Given the description of an element on the screen output the (x, y) to click on. 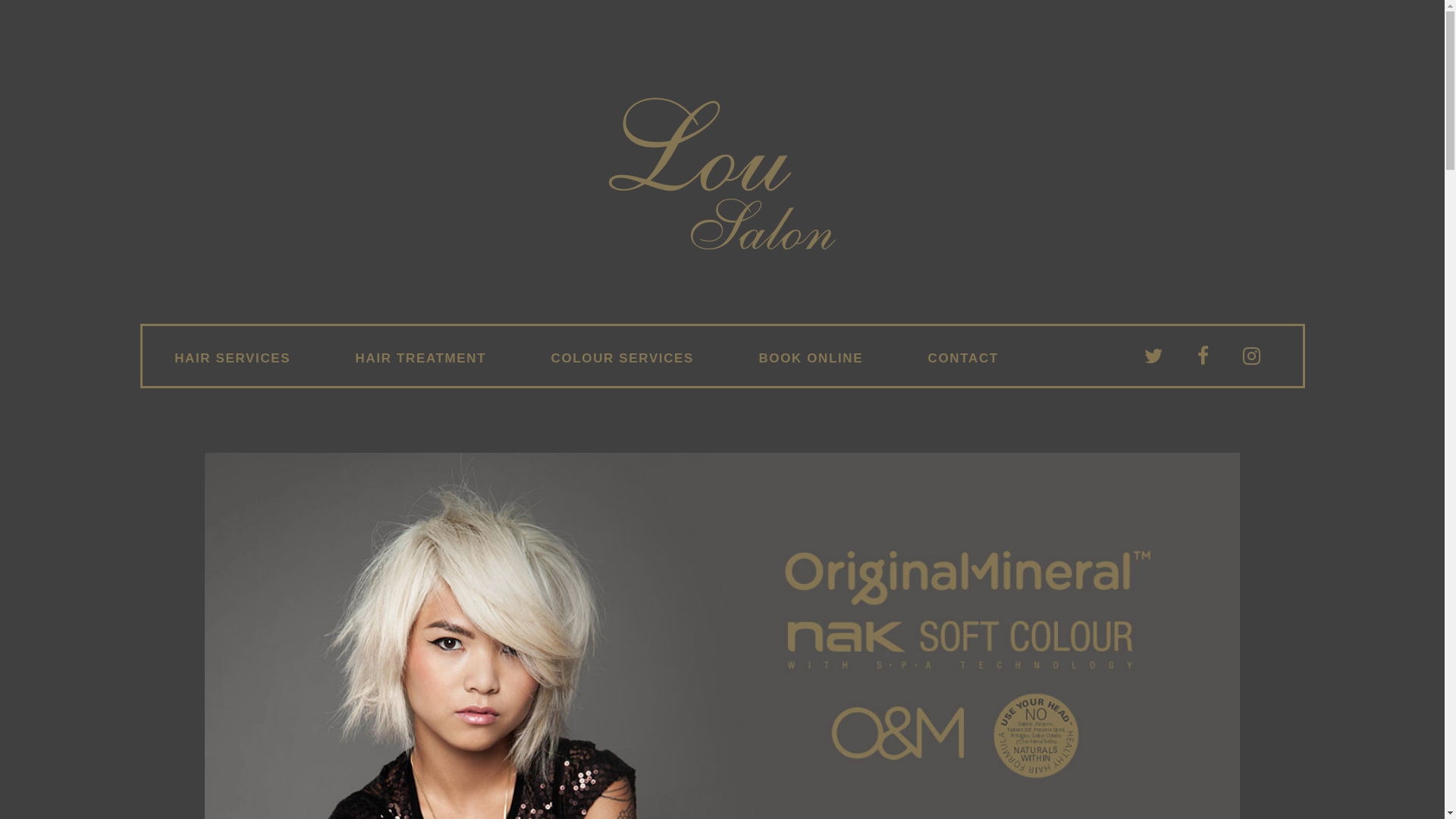
CONTACT Element type: text (963, 358)
BOOK ONLINE Element type: text (810, 358)
HAIR SERVICES Element type: text (232, 358)
HAIR TREATMENT Element type: text (420, 358)
COLOUR SERVICES Element type: text (622, 358)
